Given the description of an element on the screen output the (x, y) to click on. 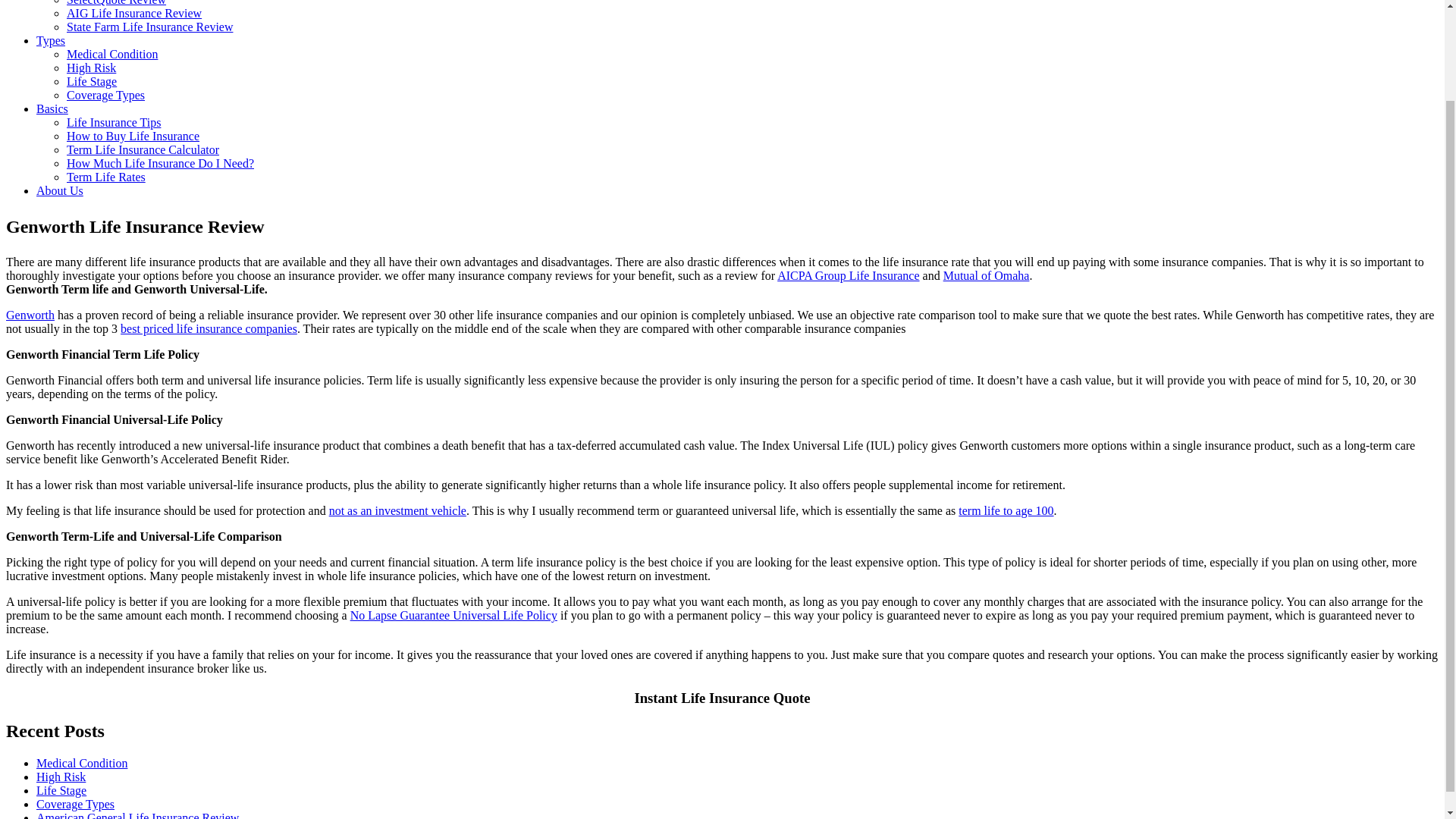
Term Life Rates (105, 176)
Mutual of Omaha (986, 275)
not as an investment vehicle (397, 510)
Does Term Life to Age 100 Exist? (1005, 510)
Genworth (30, 314)
Life Insurance is not an Investment (397, 510)
AIG Life Insurance Review (134, 12)
best priced life insurance companies (208, 328)
How to Buy Life Insurance (132, 135)
Medical Condition (111, 53)
